Given the description of an element on the screen output the (x, y) to click on. 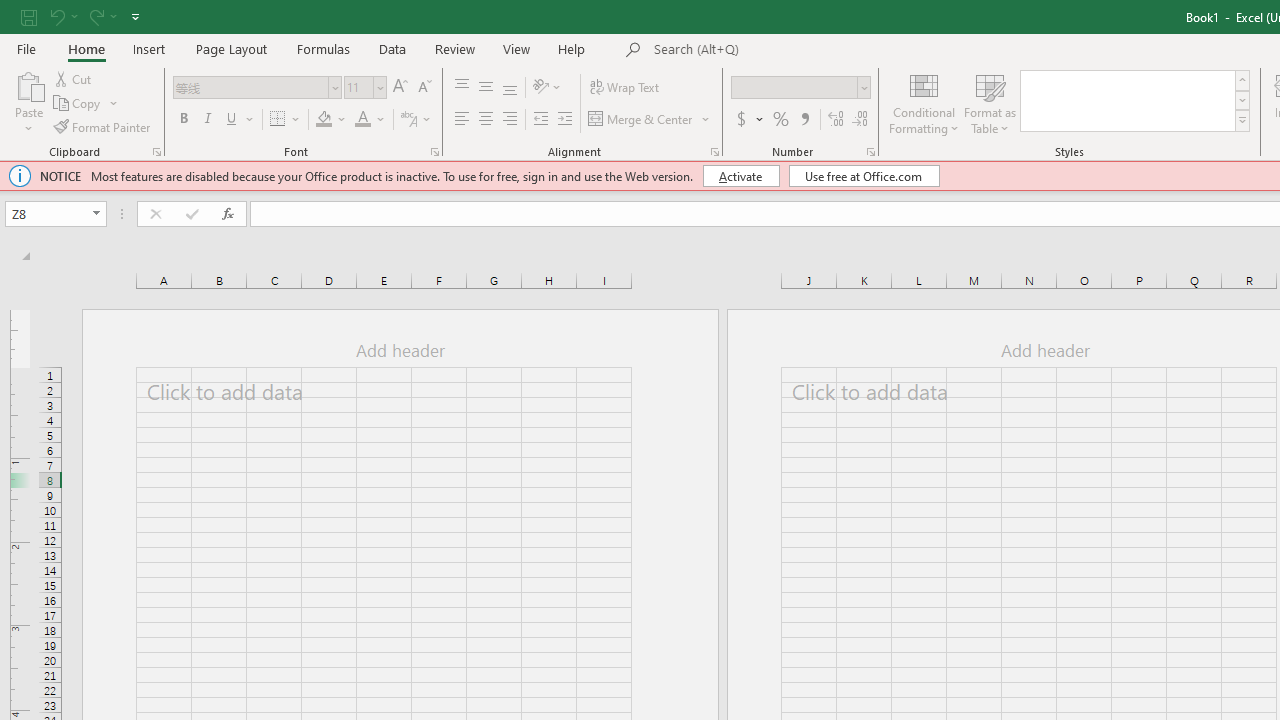
Comma Style (804, 119)
Decrease Decimal (859, 119)
Format Painter (103, 126)
AutomationID: CellStylesGallery (1135, 100)
